Given the description of an element on the screen output the (x, y) to click on. 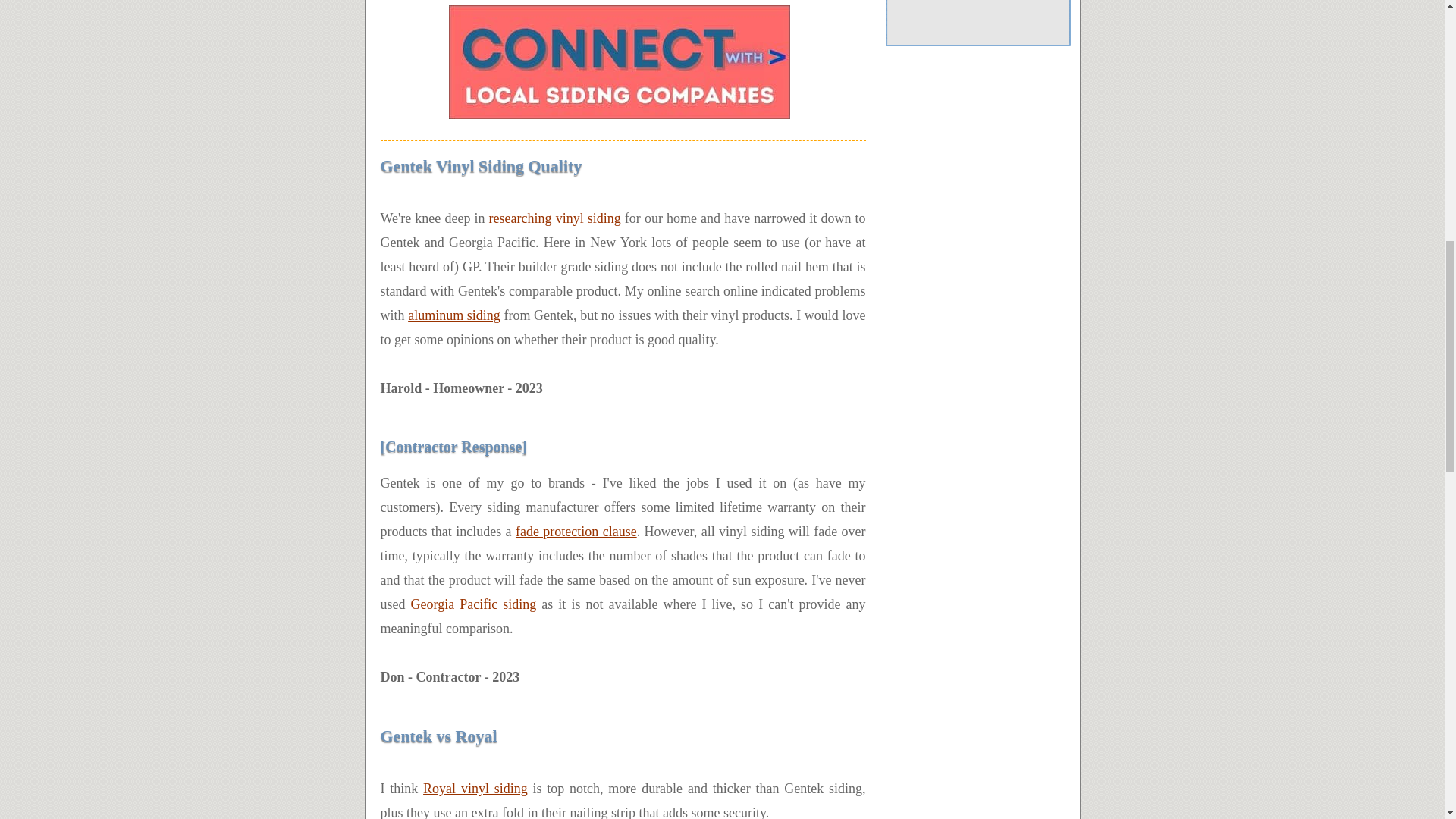
Georgia Pacific siding (473, 604)
Royal vinyl siding (475, 788)
aluminum siding (453, 314)
fade protection clause (576, 531)
researching vinyl siding (555, 218)
